Given the description of an element on the screen output the (x, y) to click on. 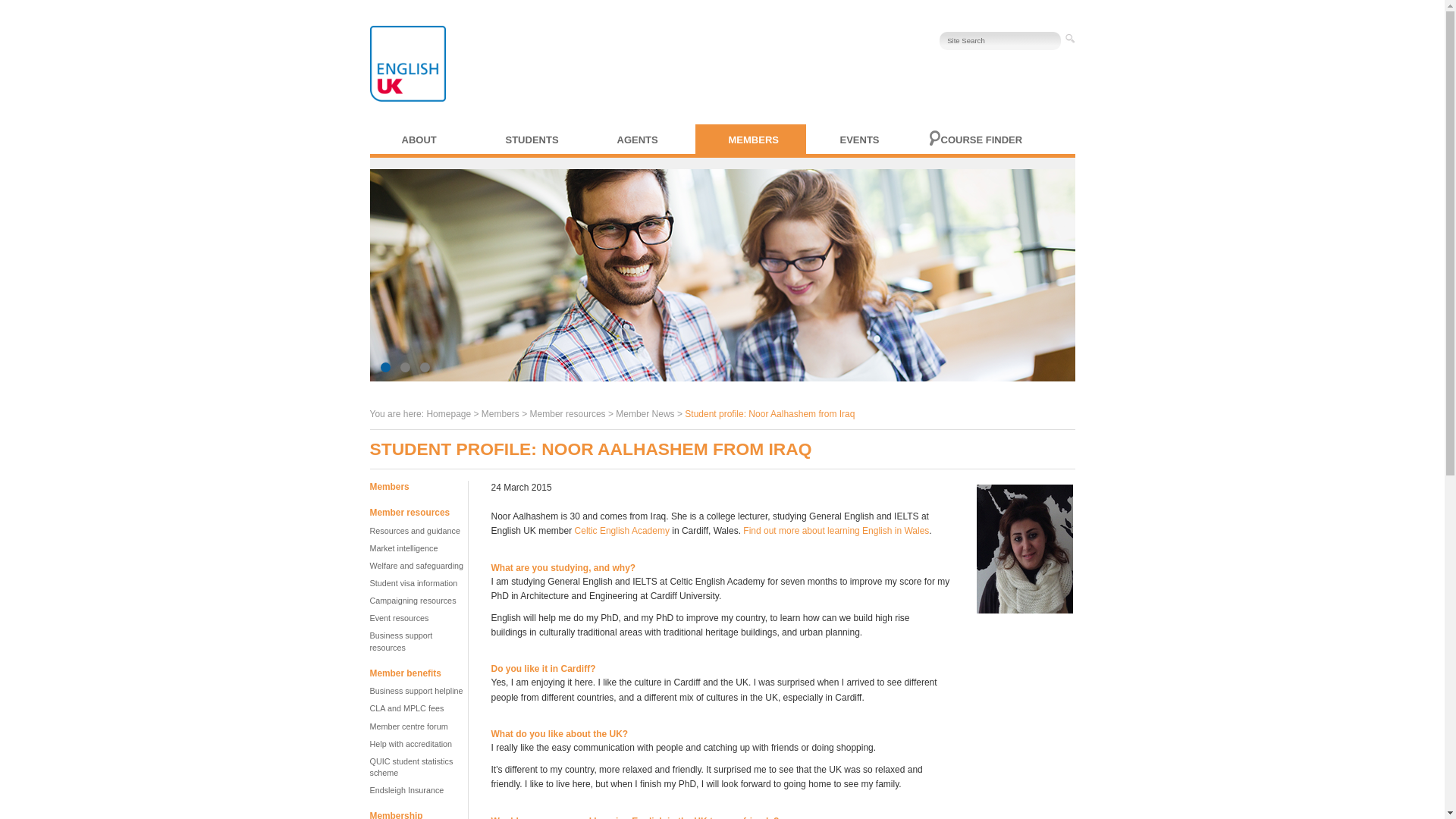
ABOUT (436, 139)
Site Search (1000, 40)
STUDENTS (539, 139)
Site Search (1000, 40)
